Given the description of an element on the screen output the (x, y) to click on. 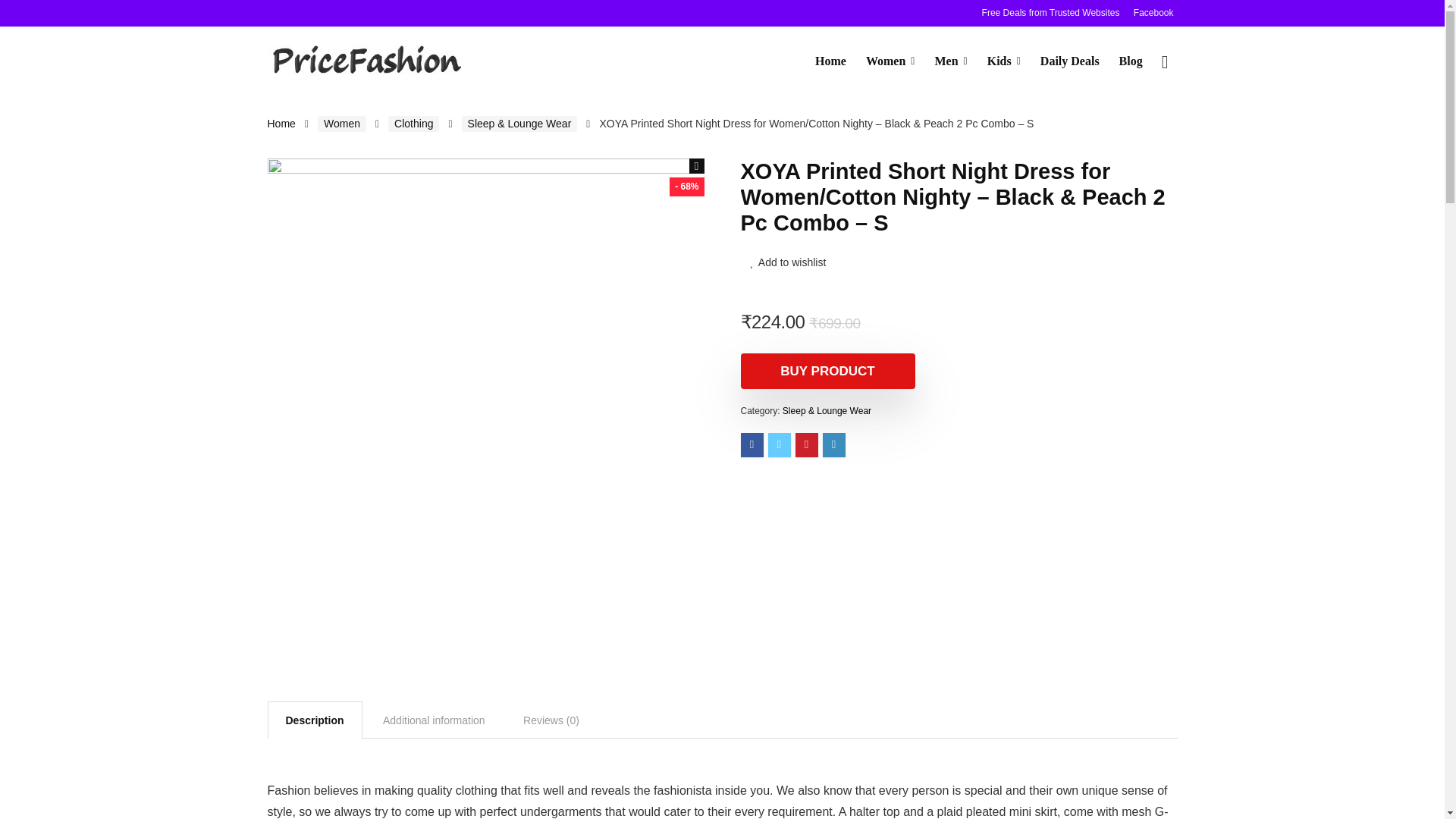
Blog (1131, 61)
Facebook (1153, 12)
Daily Deals (1069, 61)
Home (830, 61)
Kids (1003, 61)
Women (890, 61)
Women (341, 123)
Men (950, 61)
Home (280, 123)
